Given the description of an element on the screen output the (x, y) to click on. 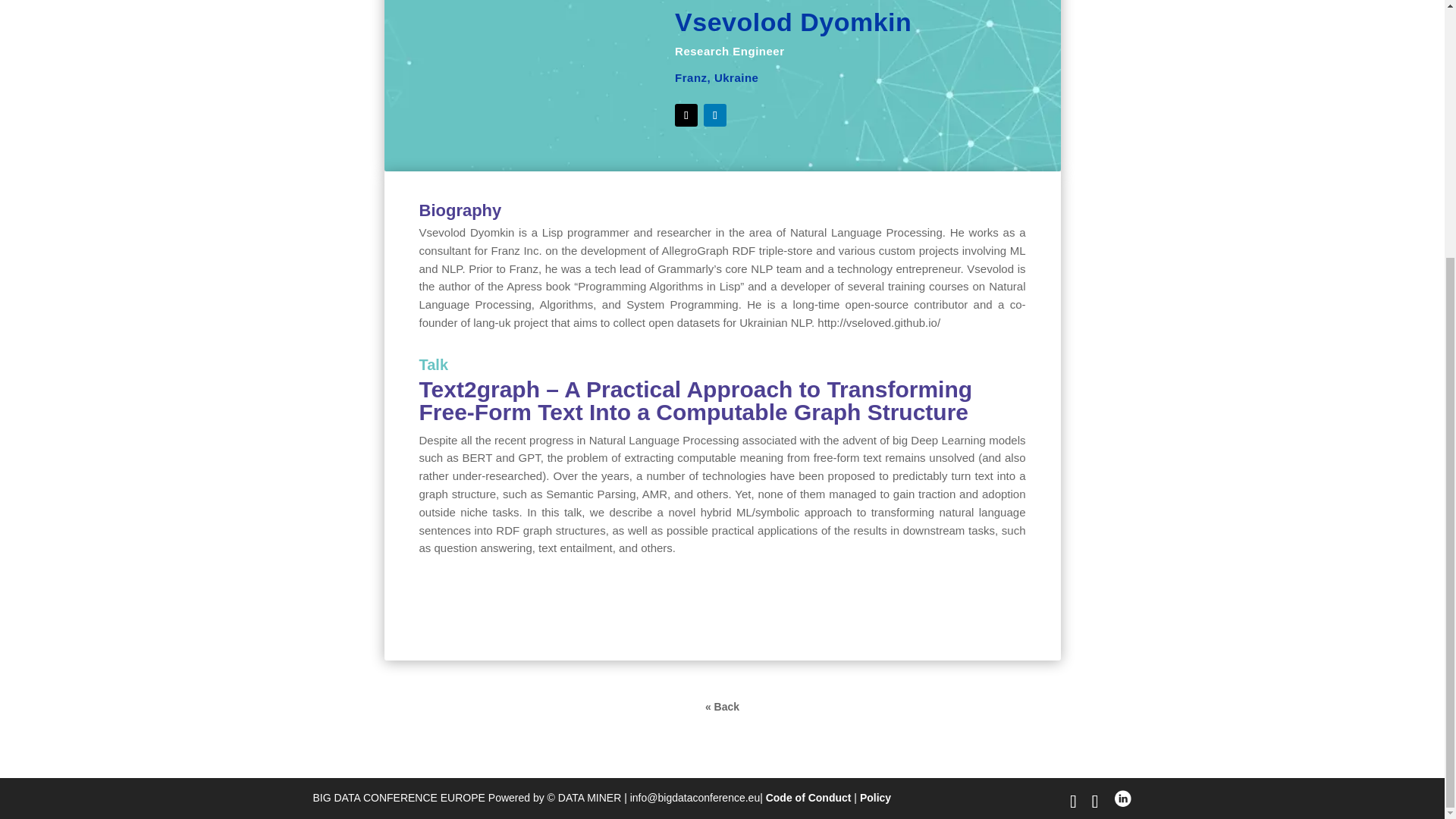
Follow on LinkedIn (714, 115)
Follow on X (686, 115)
